Given the description of an element on the screen output the (x, y) to click on. 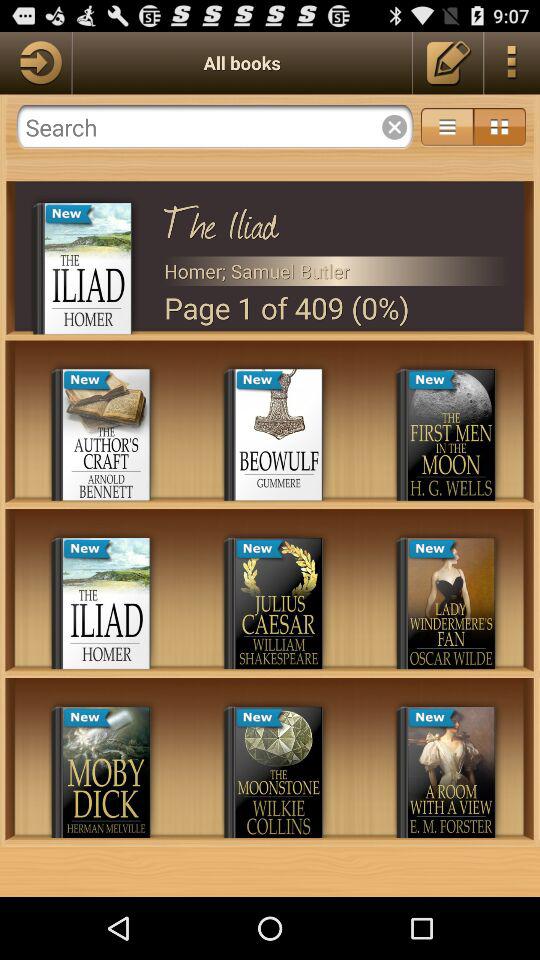
tap page 1 of (336, 307)
